Given the description of an element on the screen output the (x, y) to click on. 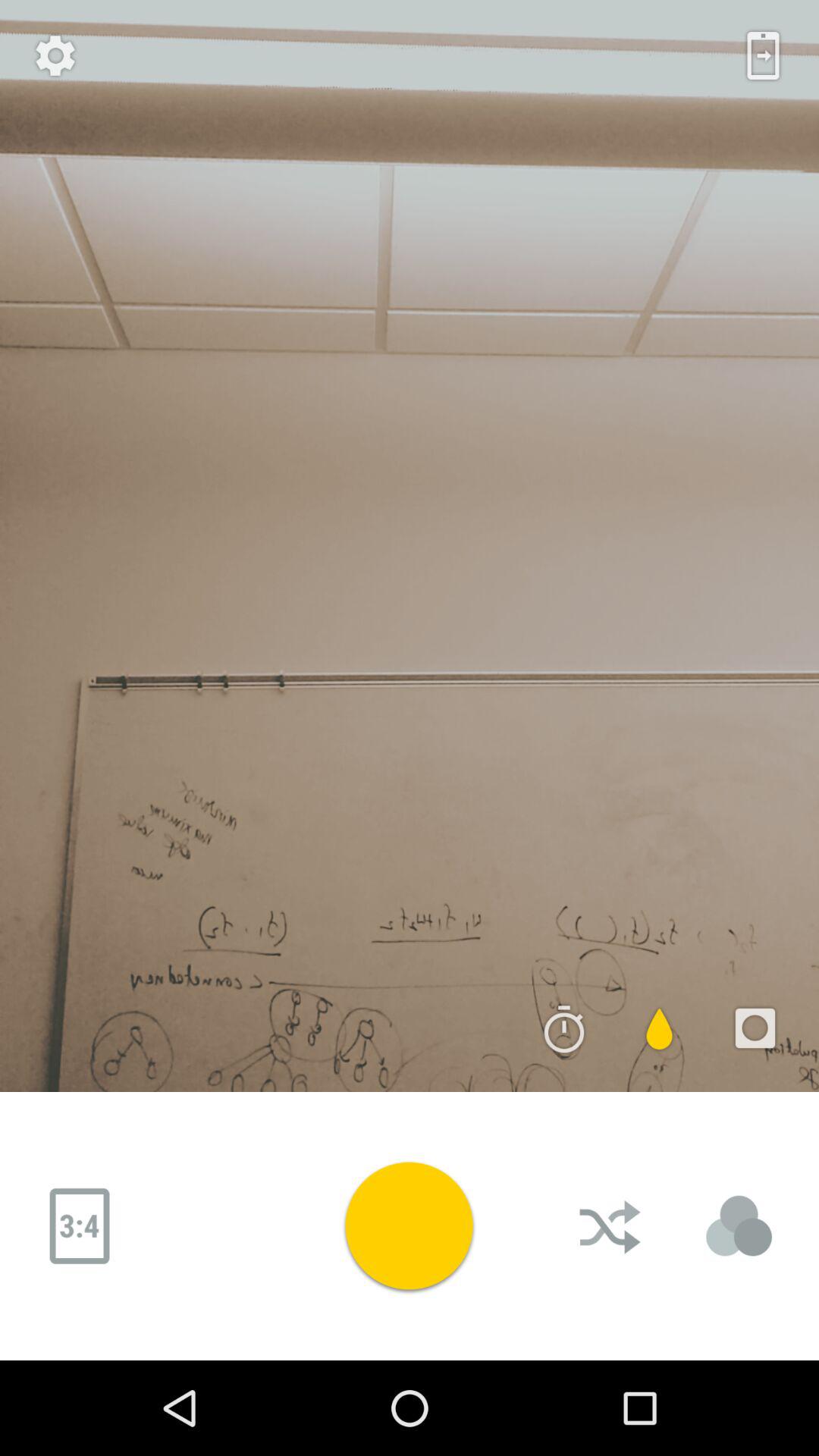
capture (408, 1225)
